Given the description of an element on the screen output the (x, y) to click on. 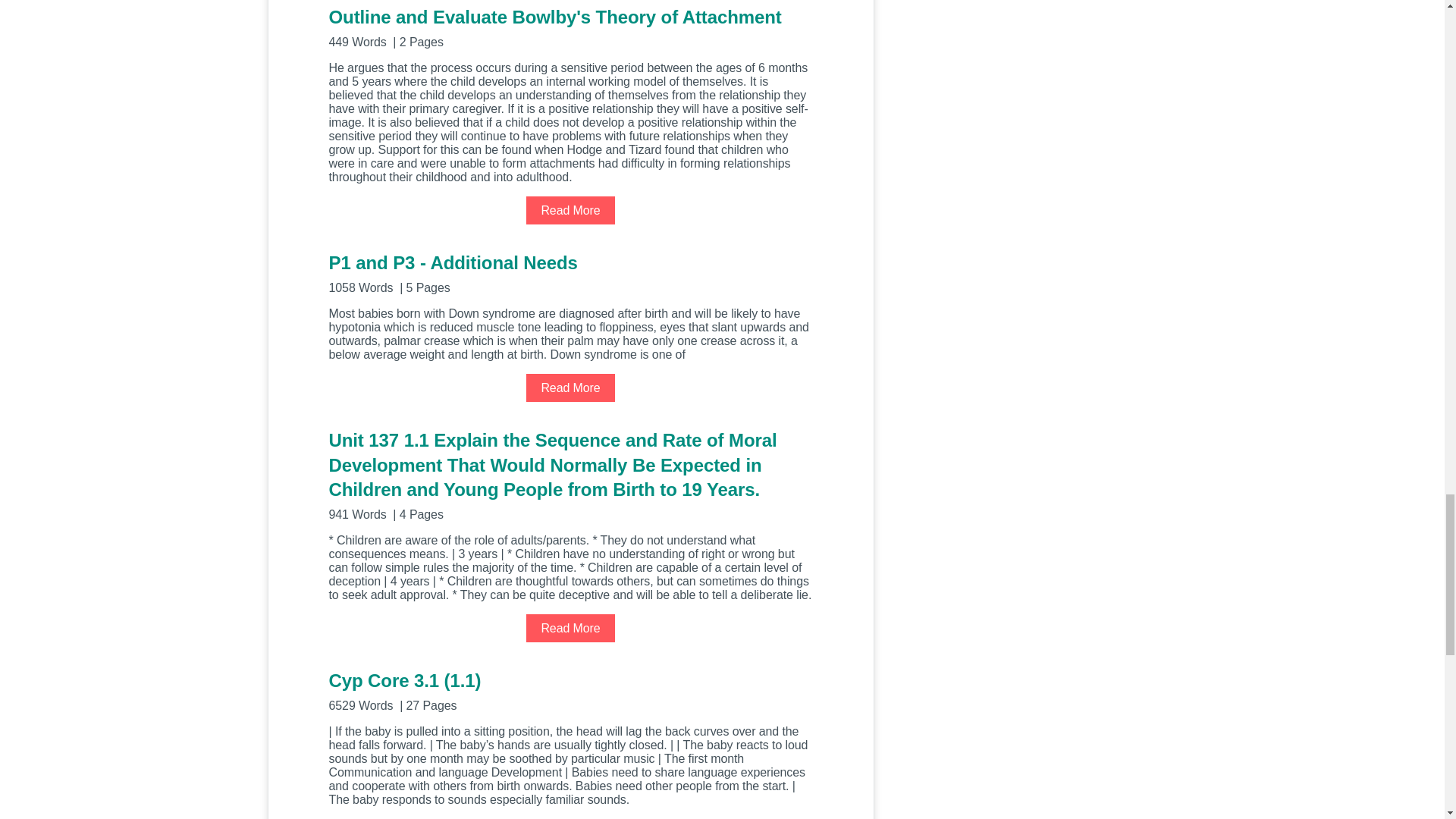
Outline and Evaluate Bowlby's Theory of Attachment (570, 26)
Read More (569, 387)
Read More (569, 210)
P1 and P3 - Additional Needs (570, 272)
Read More (569, 628)
